Given the description of an element on the screen output the (x, y) to click on. 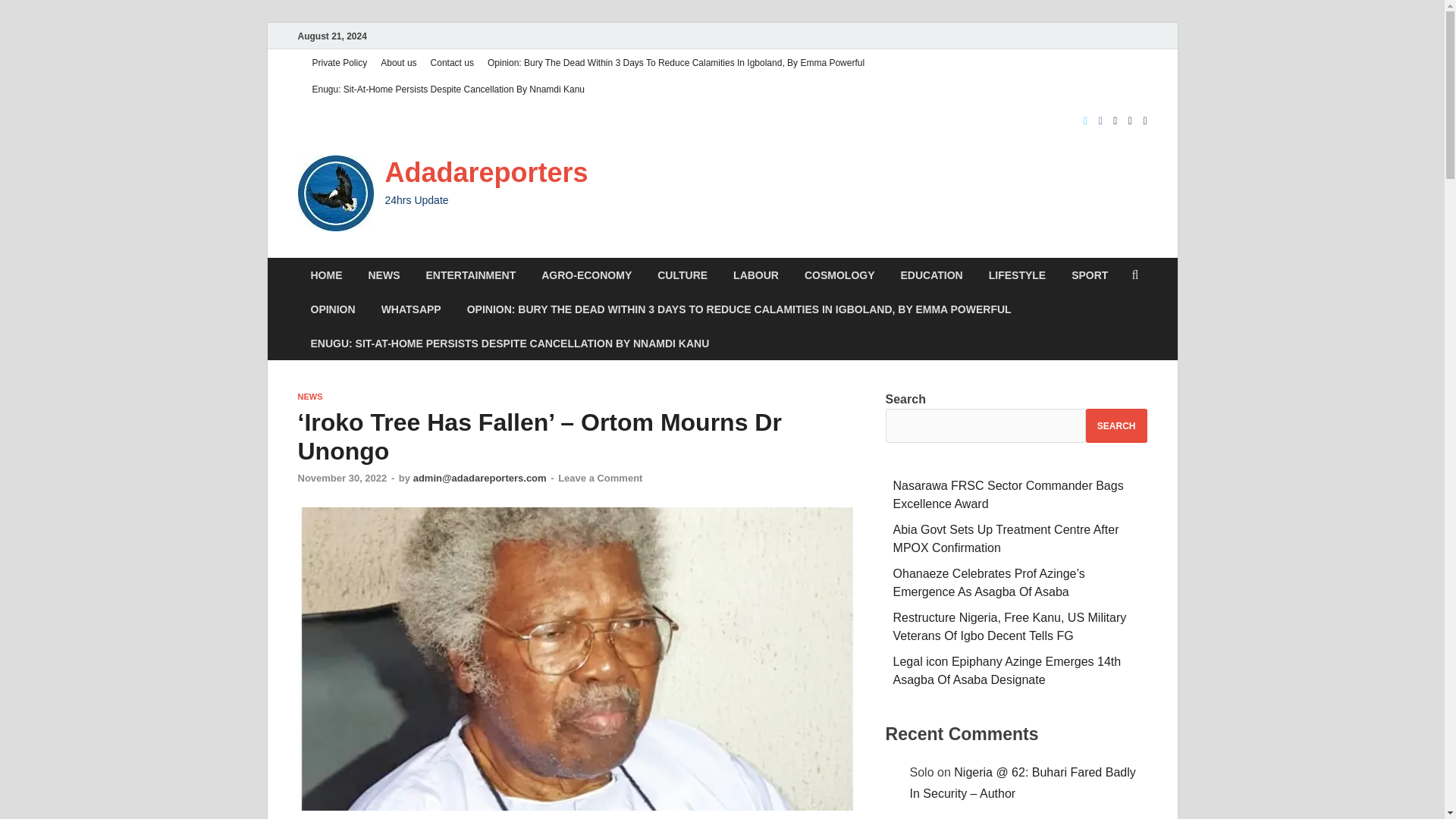
Contact us (451, 62)
SPORT (1089, 274)
Private Policy (339, 62)
OPINION (332, 308)
WHATSAPP (411, 308)
ENTERTAINMENT (470, 274)
About us (398, 62)
NEWS (383, 274)
WhatsApp (411, 308)
